Given the description of an element on the screen output the (x, y) to click on. 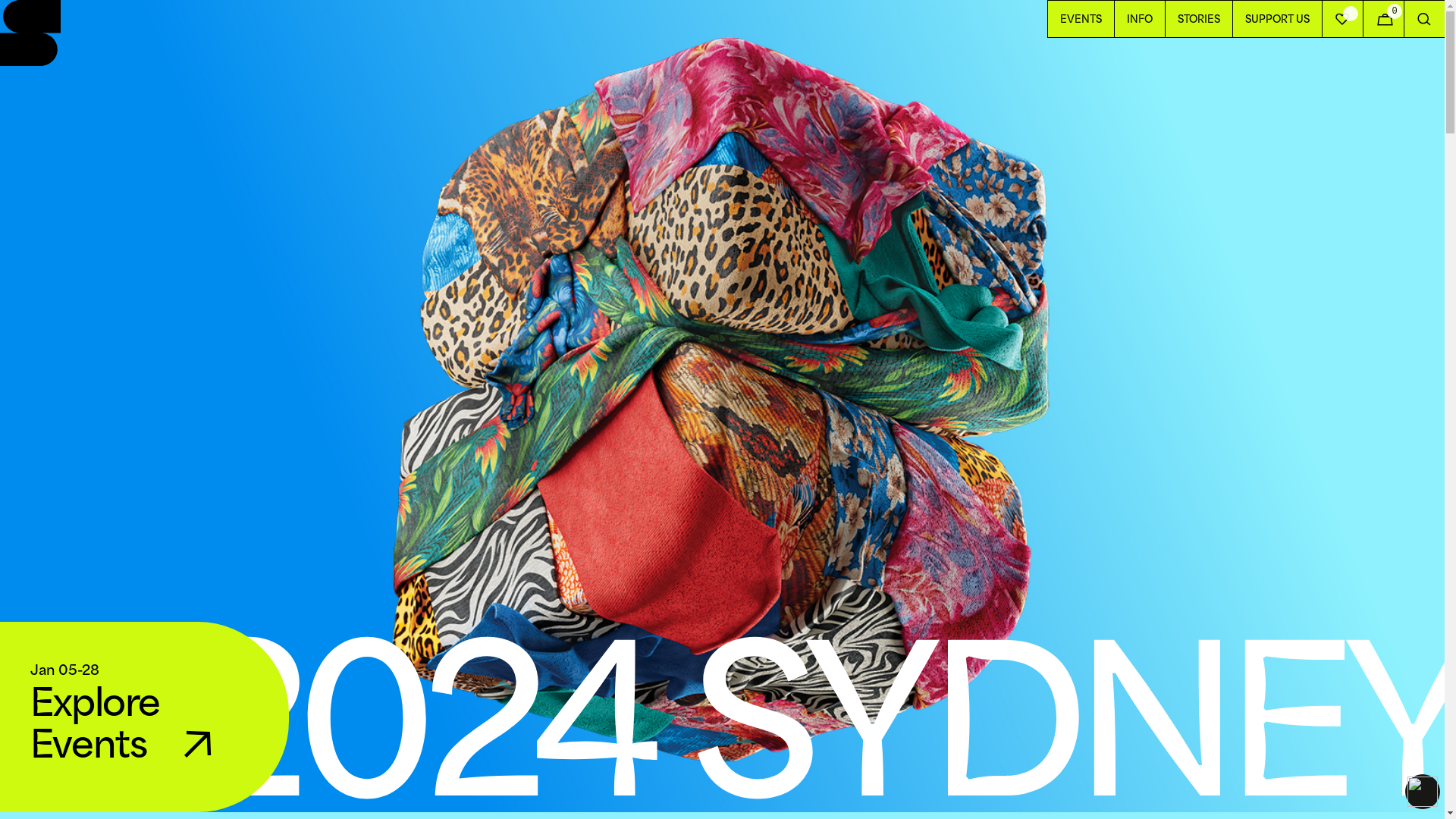
Jan 05-28
Explore
Events Element type: text (144, 716)
STORIES Element type: text (1198, 18)
